Given the description of an element on the screen output the (x, y) to click on. 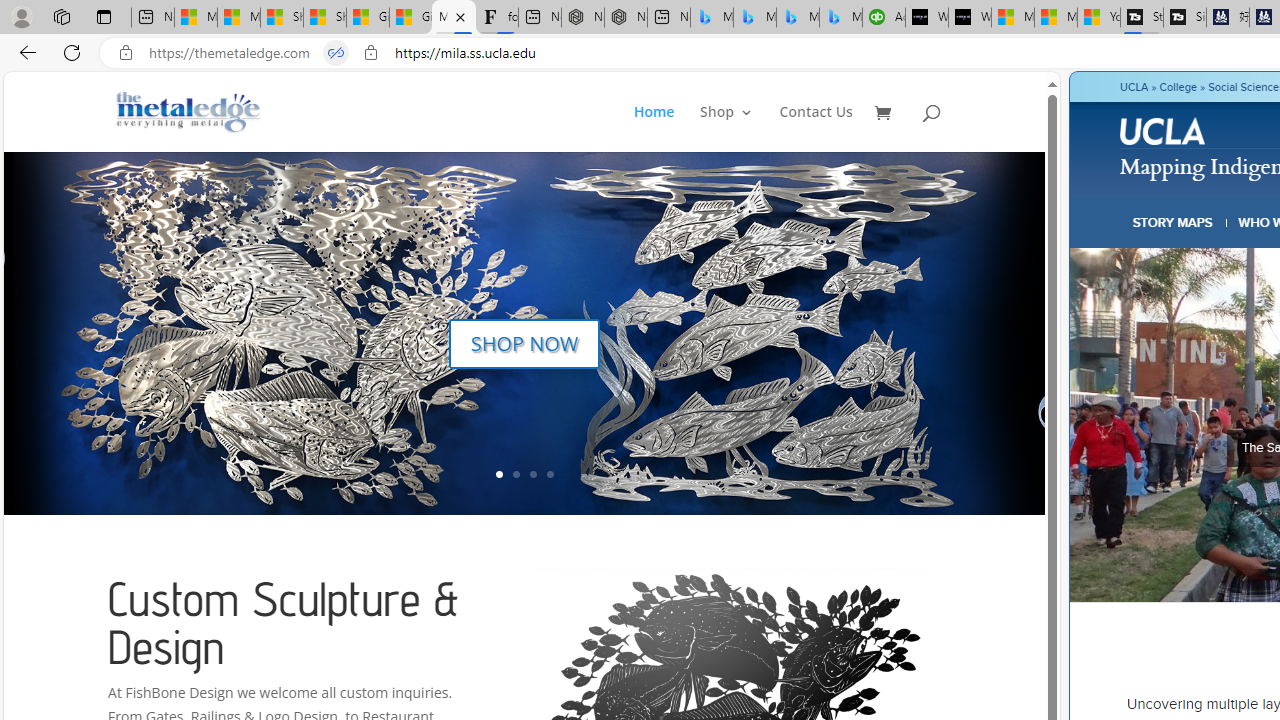
Tabs in split screen (335, 53)
3 (532, 474)
UCLA logo (1164, 134)
2 (515, 474)
